Given the description of an element on the screen output the (x, y) to click on. 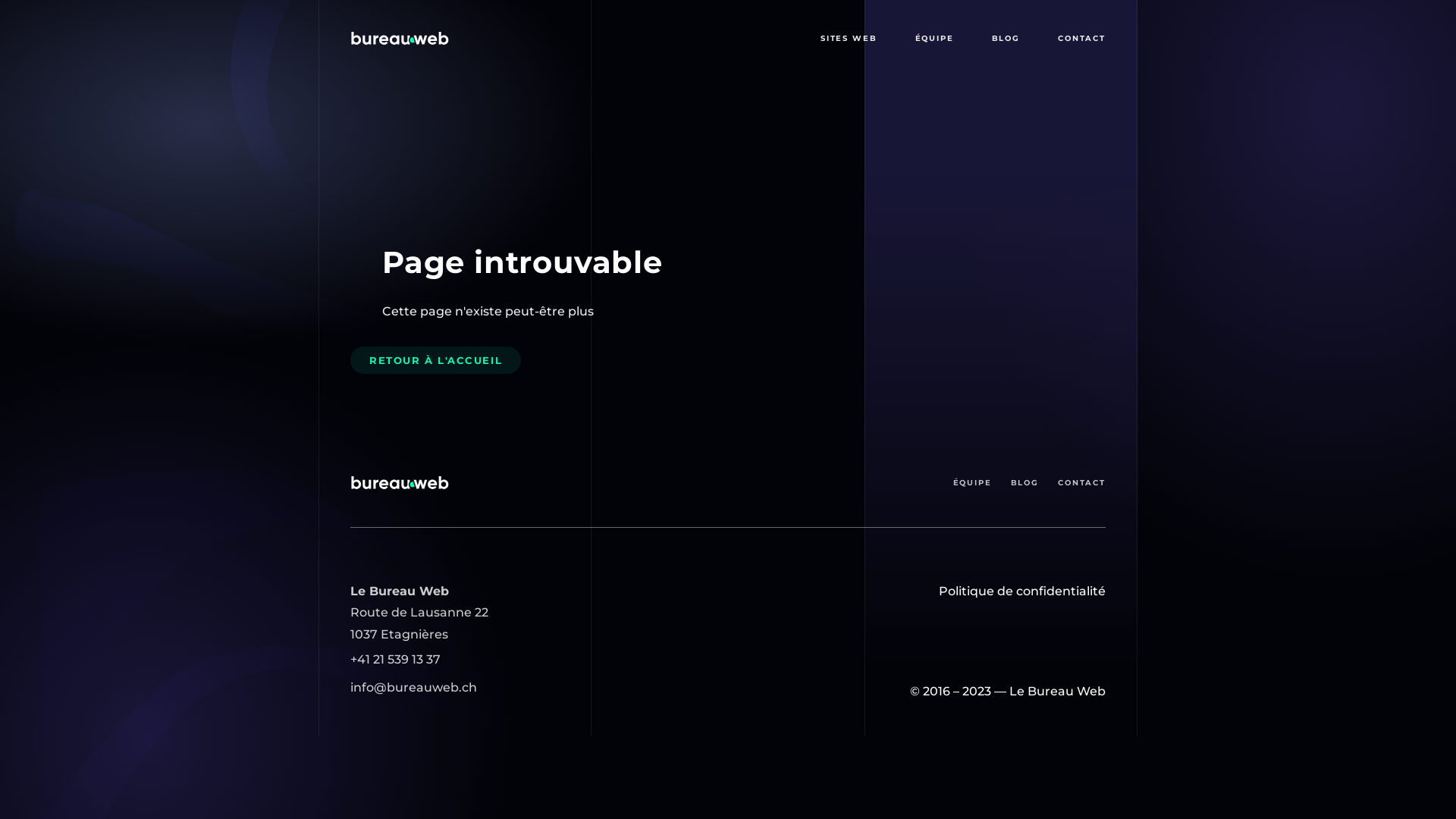
BLOG Element type: text (1005, 37)
Page principale de l'agence web Element type: hover (399, 37)
CONTACT Element type: text (1081, 482)
info@bureauweb.ch Element type: text (413, 688)
+41 21 539 13 37 Element type: text (395, 660)
SITES WEB Element type: text (848, 37)
BLOG Element type: text (1024, 482)
CONTACT Element type: text (1081, 37)
